Given the description of an element on the screen output the (x, y) to click on. 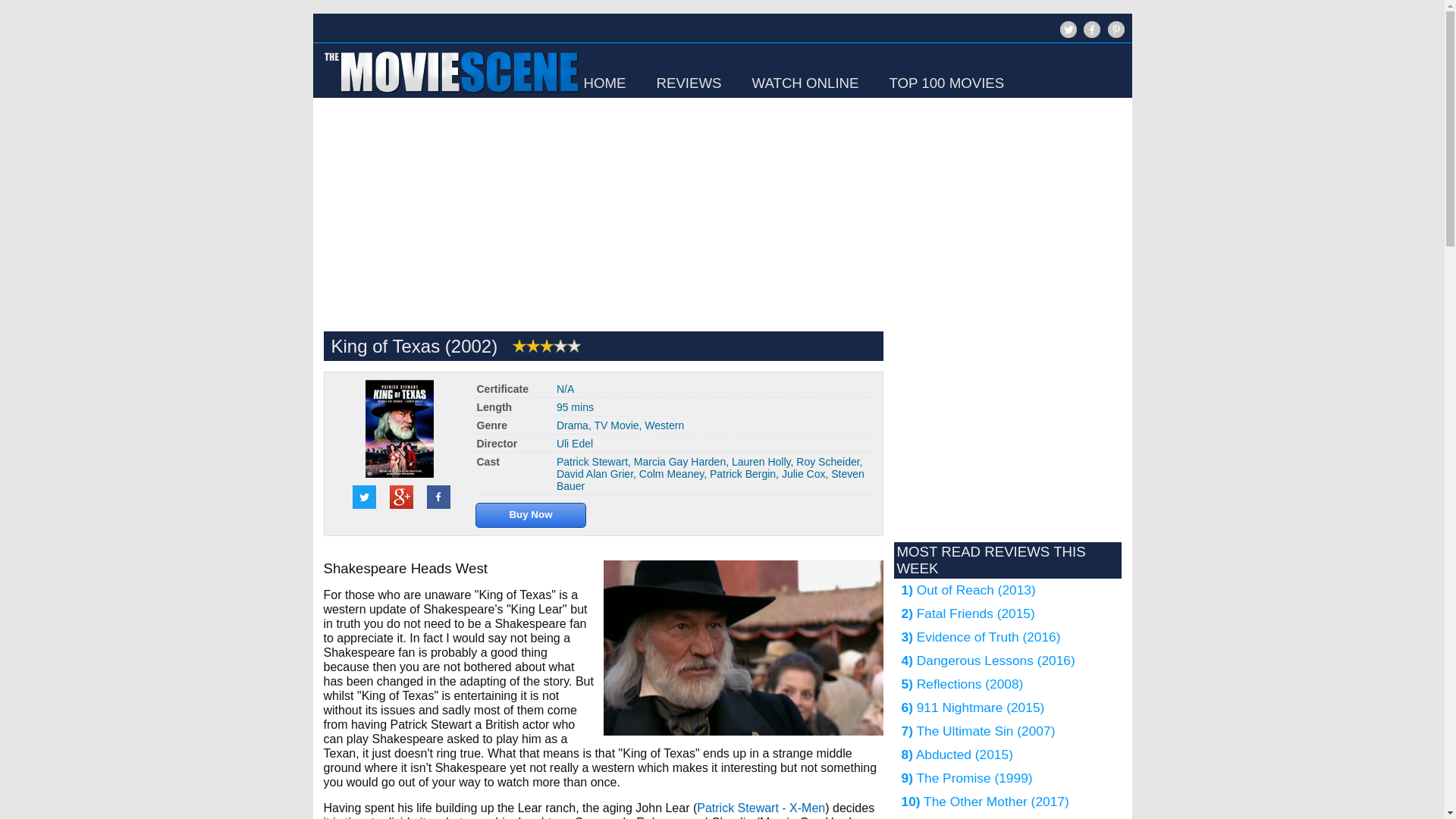
Lauren Holly (761, 461)
Colm Meaney (671, 473)
Patrick Stewart - X-Men (761, 807)
Follow The Movie Scene on Pinterest (1115, 29)
Western (664, 425)
Patrick Stewart (591, 461)
David Alan Grier (594, 473)
Follow The Movie Scene on Pinterest (1113, 37)
Like The Movie Scene on facebook (1090, 37)
